Given the description of an element on the screen output the (x, y) to click on. 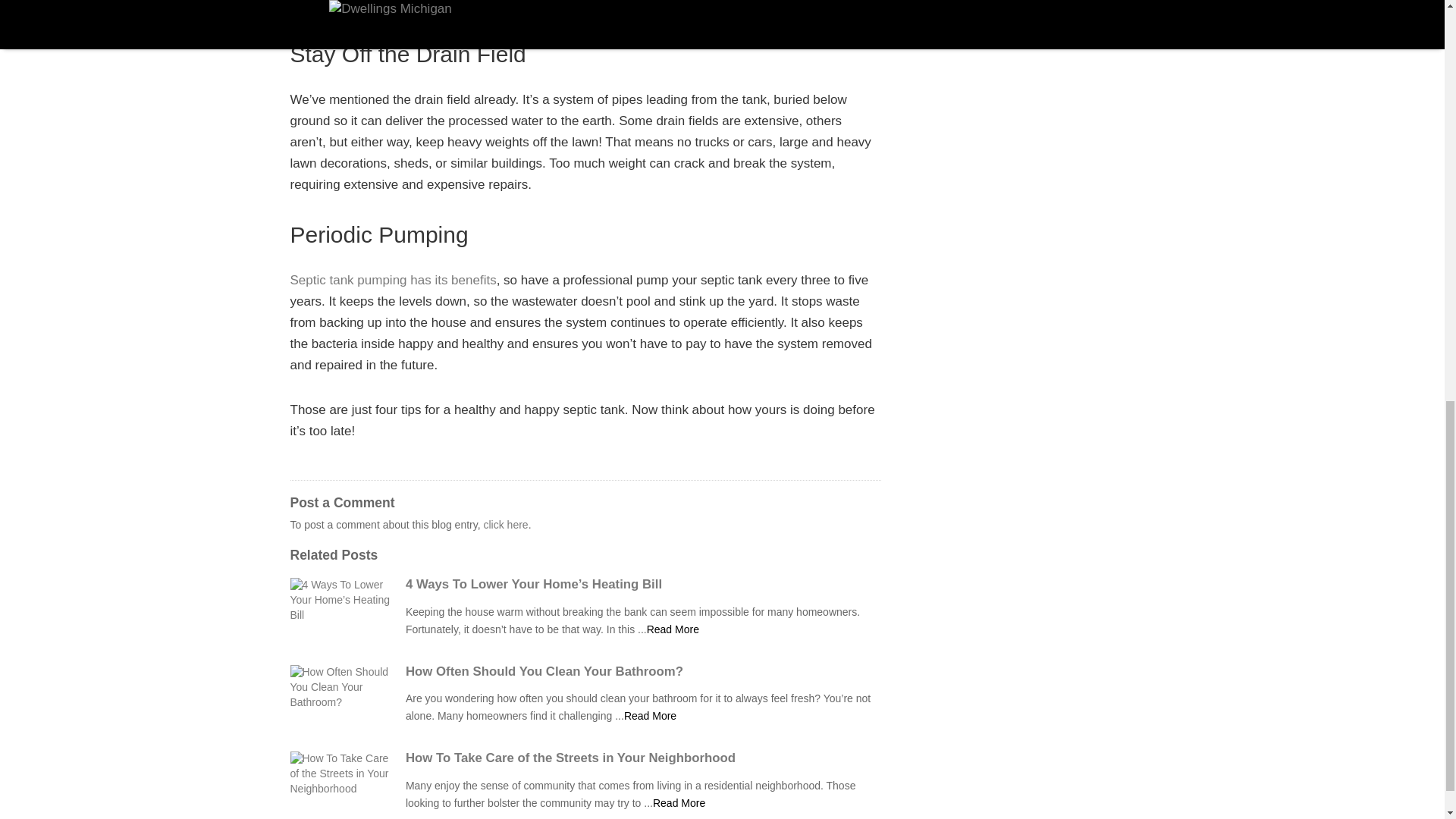
How Often Should You Clean Your Bathroom? (643, 671)
4 Tips for a Healthy and Happy Septic Tank (650, 715)
4 Tips for a Healthy and Happy Septic Tank (678, 802)
4 Tips for a Healthy and Happy Septic Tank (672, 629)
How To Take Care of the Streets in Your Neighborhood (643, 757)
